Given the description of an element on the screen output the (x, y) to click on. 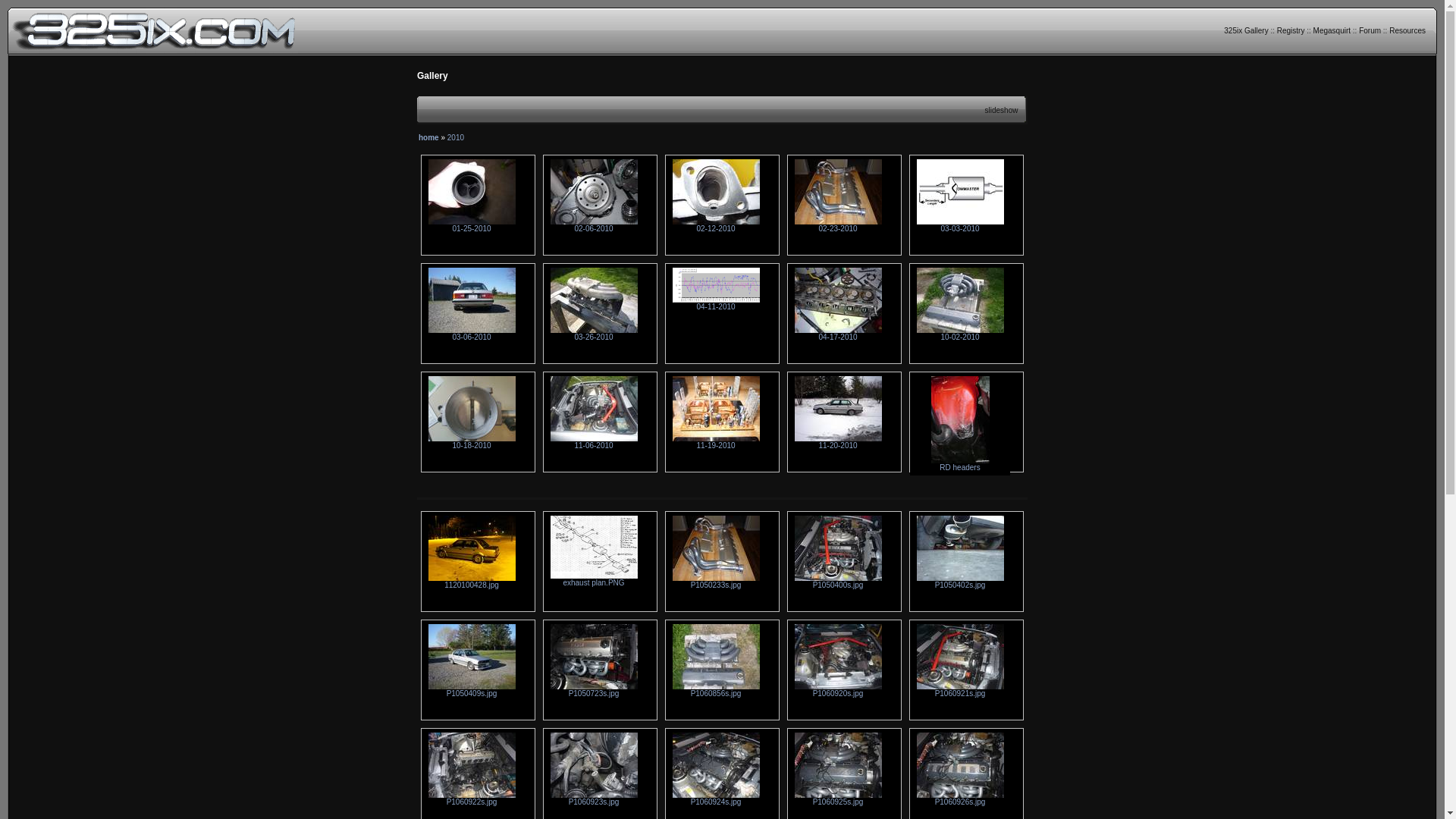
03-03-2010 Element type: text (959, 224)
Registry Element type: text (1291, 30)
P1050723s.jpg Element type: text (593, 689)
10-02-2010 Element type: text (959, 333)
11-19-2010 Element type: text (715, 441)
P1050402s.jpg Element type: text (959, 581)
P1060925s.jpg Element type: text (837, 798)
Megasquirt Element type: text (1331, 30)
325ix Gallery Element type: text (1245, 30)
01-25-2010 Element type: text (470, 224)
03-26-2010 Element type: text (593, 333)
P1050233s.jpg Element type: text (715, 581)
10-18-2010 Element type: text (470, 441)
02-06-2010 Element type: text (593, 224)
P1060920s.jpg Element type: text (837, 689)
Resources Element type: text (1407, 30)
slideshow Element type: text (1001, 110)
Forum Element type: text (1369, 30)
RD headers Element type: text (960, 463)
P1060926s.jpg Element type: text (959, 798)
11-06-2010 Element type: text (593, 441)
P1060856s.jpg Element type: text (715, 689)
P1060922s.jpg Element type: text (470, 798)
1120100428.jpg Element type: text (470, 581)
exhaust plan.PNG Element type: text (593, 578)
2010 Element type: text (455, 137)
P1050409s.jpg Element type: text (470, 689)
04-11-2010 Element type: text (715, 302)
P1060923s.jpg Element type: text (593, 798)
P1060921s.jpg Element type: text (959, 689)
home Element type: text (428, 137)
P1060924s.jpg Element type: text (715, 798)
P1050400s.jpg Element type: text (837, 581)
03-06-2010 Element type: text (470, 333)
02-12-2010 Element type: text (715, 224)
11-20-2010 Element type: text (837, 441)
04-17-2010 Element type: text (837, 333)
02-23-2010 Element type: text (837, 224)
